Given the description of an element on the screen output the (x, y) to click on. 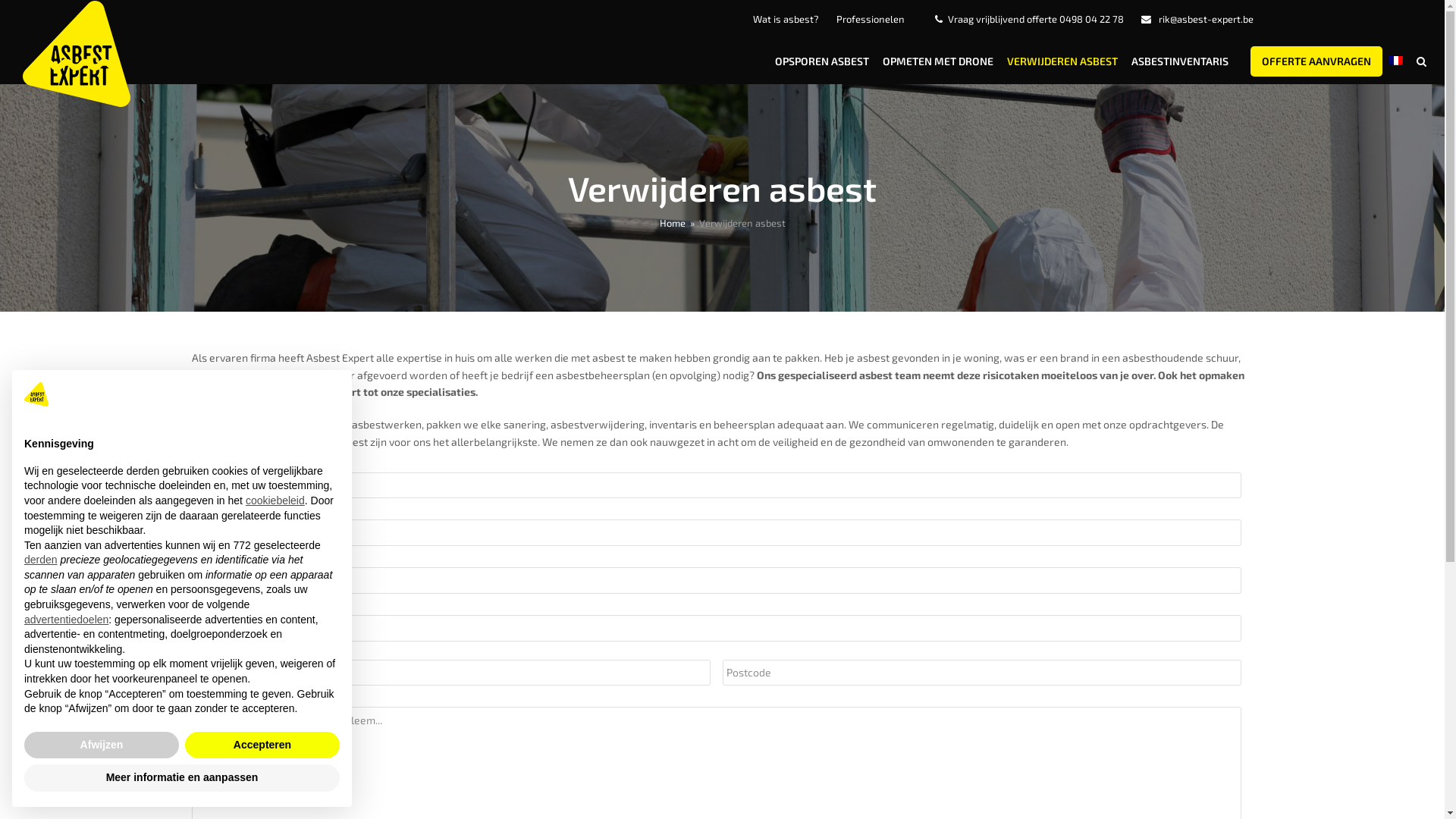
advertentiedoelen Element type: text (66, 619)
OPSPOREN ASBEST Element type: text (821, 61)
OPMETEN MET DRONE Element type: text (937, 61)
VERWIJDEREN ASBEST Element type: text (1062, 61)
Wat is asbest? Element type: text (785, 18)
Professionelen Element type: text (869, 18)
Afwijzen Element type: text (101, 745)
Meer informatie en aanpassen Element type: text (181, 777)
cookiebeleid Element type: text (274, 500)
derden Element type: text (40, 559)
OFFERTE AANVRAGEN Element type: text (1316, 61)
ASBESTINVENTARIS Element type: text (1179, 61)
Home Element type: text (672, 222)
Accepteren Element type: text (262, 745)
